Given the description of an element on the screen output the (x, y) to click on. 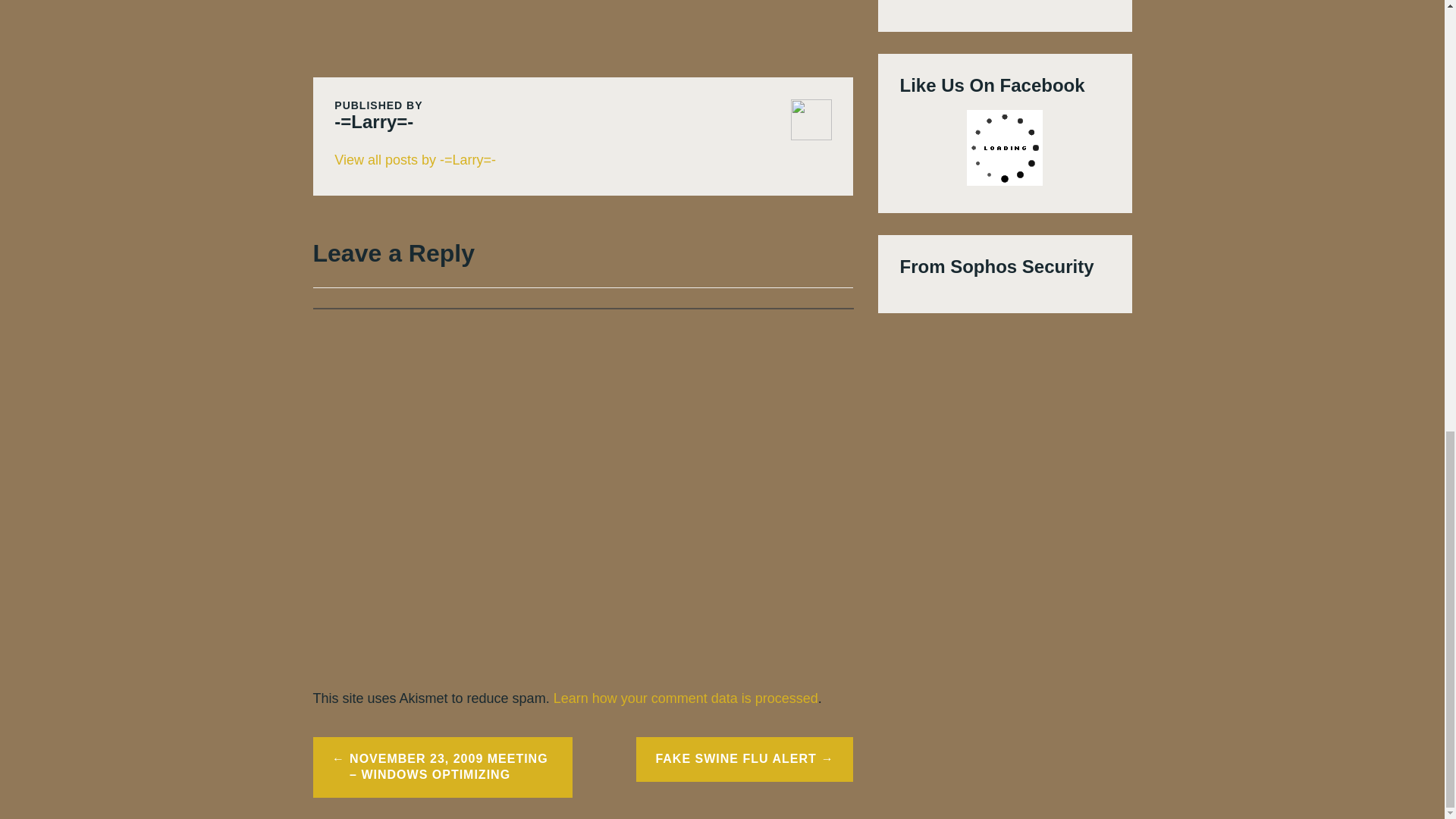
Learn how your comment data is processed (685, 698)
FAKE SWINE FLU ALERT (744, 759)
